Given the description of an element on the screen output the (x, y) to click on. 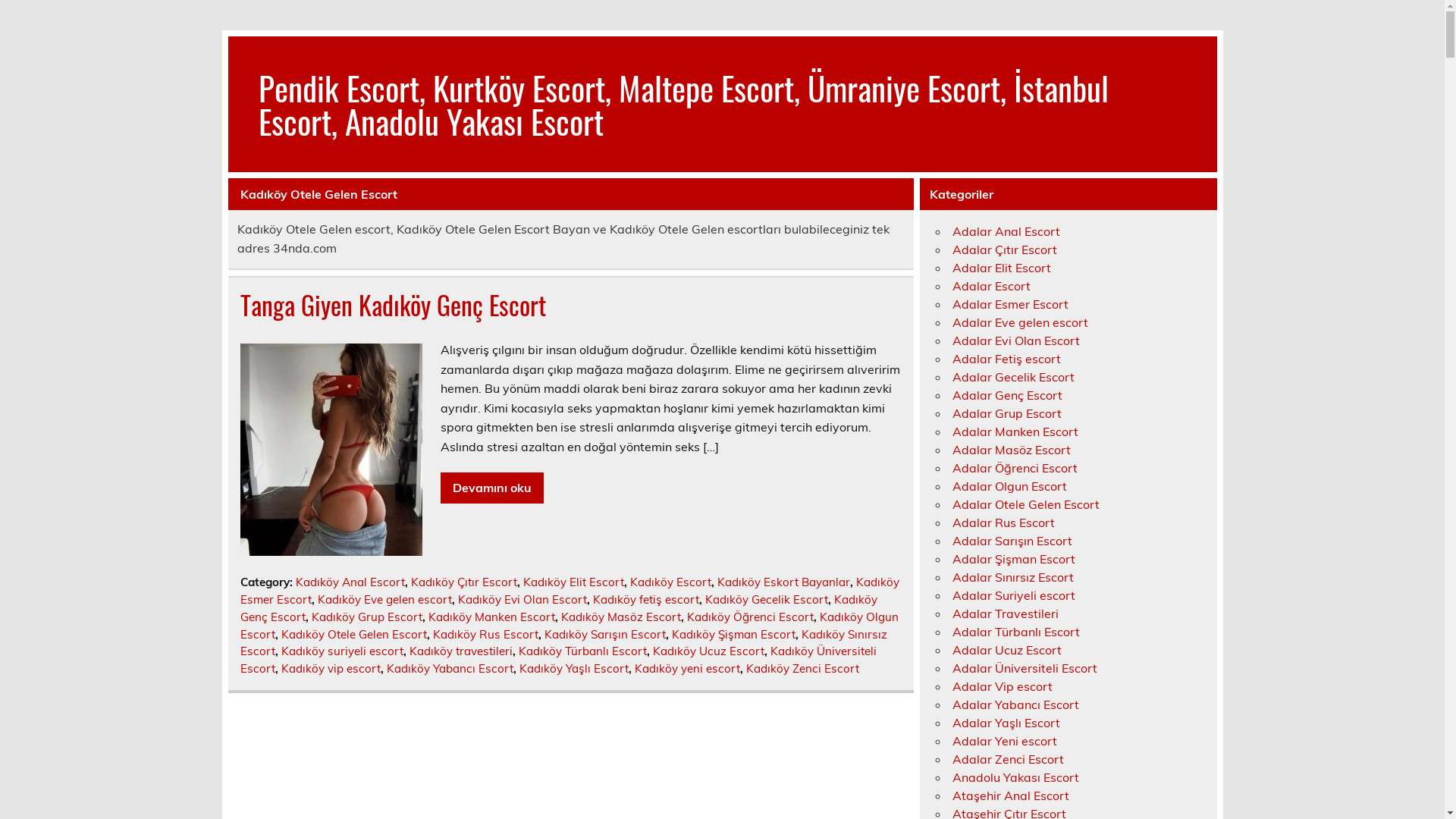
Adalar Elit Escort Element type: text (1001, 267)
Adalar Olgun Escort Element type: text (1009, 485)
Adalar Esmer Escort Element type: text (1010, 303)
Adalar Escort Element type: text (991, 285)
Adalar Eve gelen escort Element type: text (1020, 321)
Adalar Yeni escort Element type: text (1004, 740)
Adalar Manken Escort Element type: text (1015, 431)
Adalar Evi Olan Escort Element type: text (1015, 340)
Adalar Travestileri Element type: text (1005, 613)
Adalar Anal Escort Element type: text (1006, 230)
Adalar Rus Escort Element type: text (1003, 522)
Adalar Grup Escort Element type: text (1006, 412)
Adalar Gecelik Escort Element type: text (1013, 376)
Adalar Otele Gelen Escort Element type: text (1025, 503)
Adalar Vip escort Element type: text (1002, 685)
Adalar Zenci Escort Element type: text (1007, 758)
Adalar Ucuz Escort Element type: text (1006, 649)
Adalar Suriyeli escort Element type: text (1013, 594)
